Given the description of an element on the screen output the (x, y) to click on. 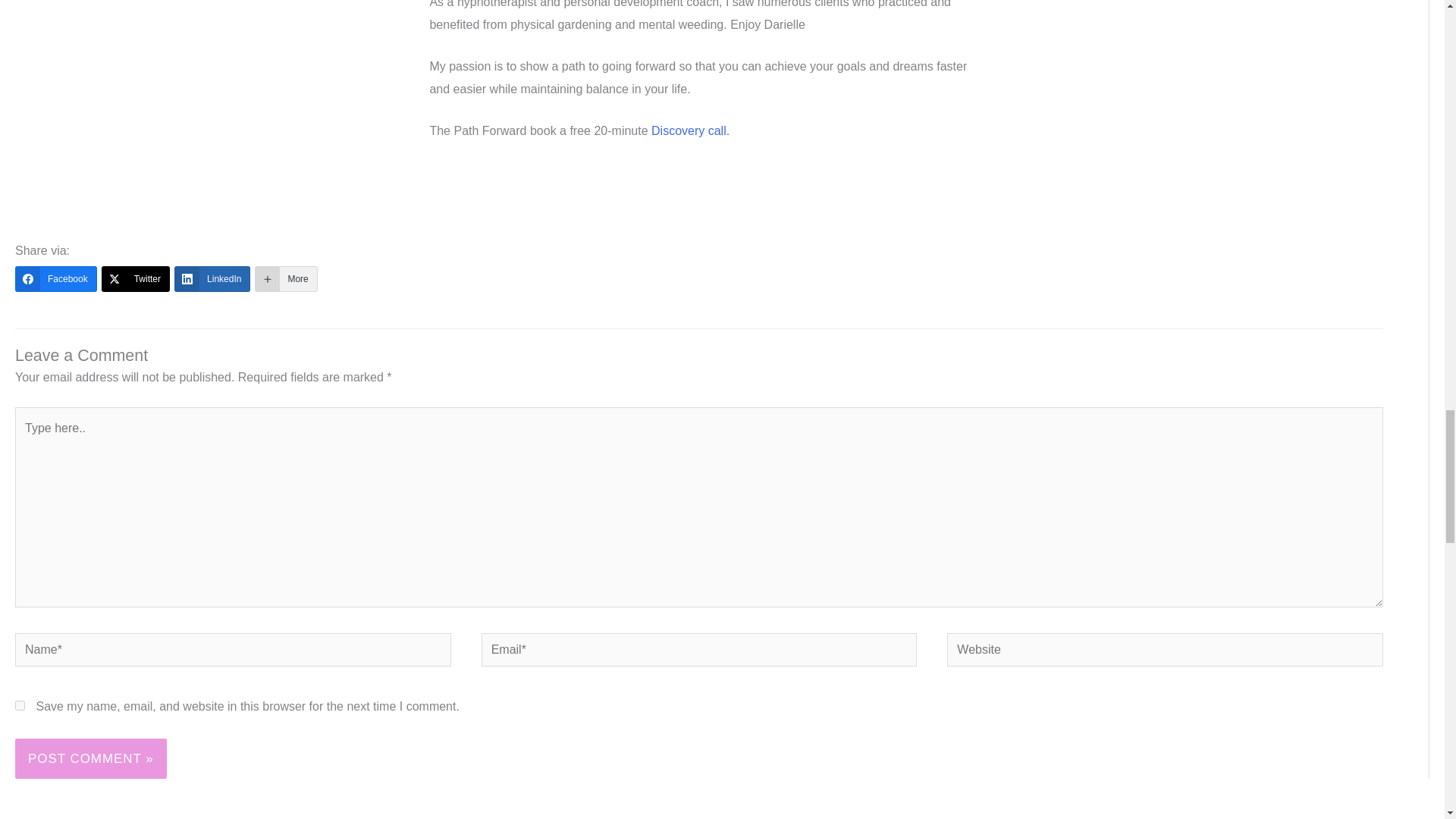
Discovery call.  (691, 130)
Twitter (135, 278)
yes (19, 705)
LinkedIn (212, 278)
More (285, 278)
Facebook (55, 278)
